Given the description of an element on the screen output the (x, y) to click on. 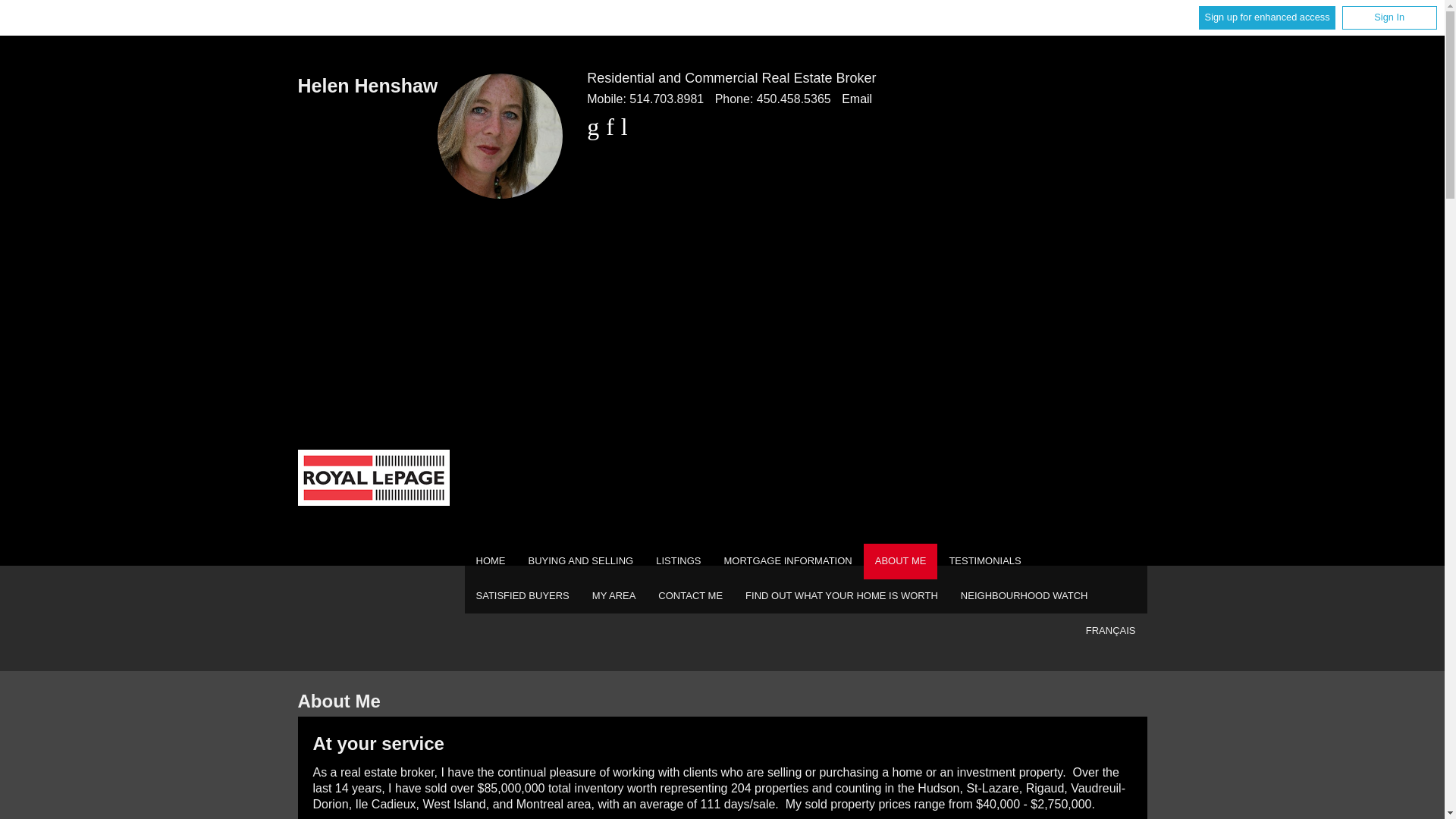
Mortgage Information (787, 561)
LISTINGS (678, 561)
Buying and Selling (580, 561)
My Area (613, 596)
Neighbourhood Watch (1024, 596)
ABOUT ME (900, 561)
MY AREA (613, 596)
Email (856, 98)
SATISFIED BUYERS (521, 596)
BUYING AND SELLING (580, 561)
